Given the description of an element on the screen output the (x, y) to click on. 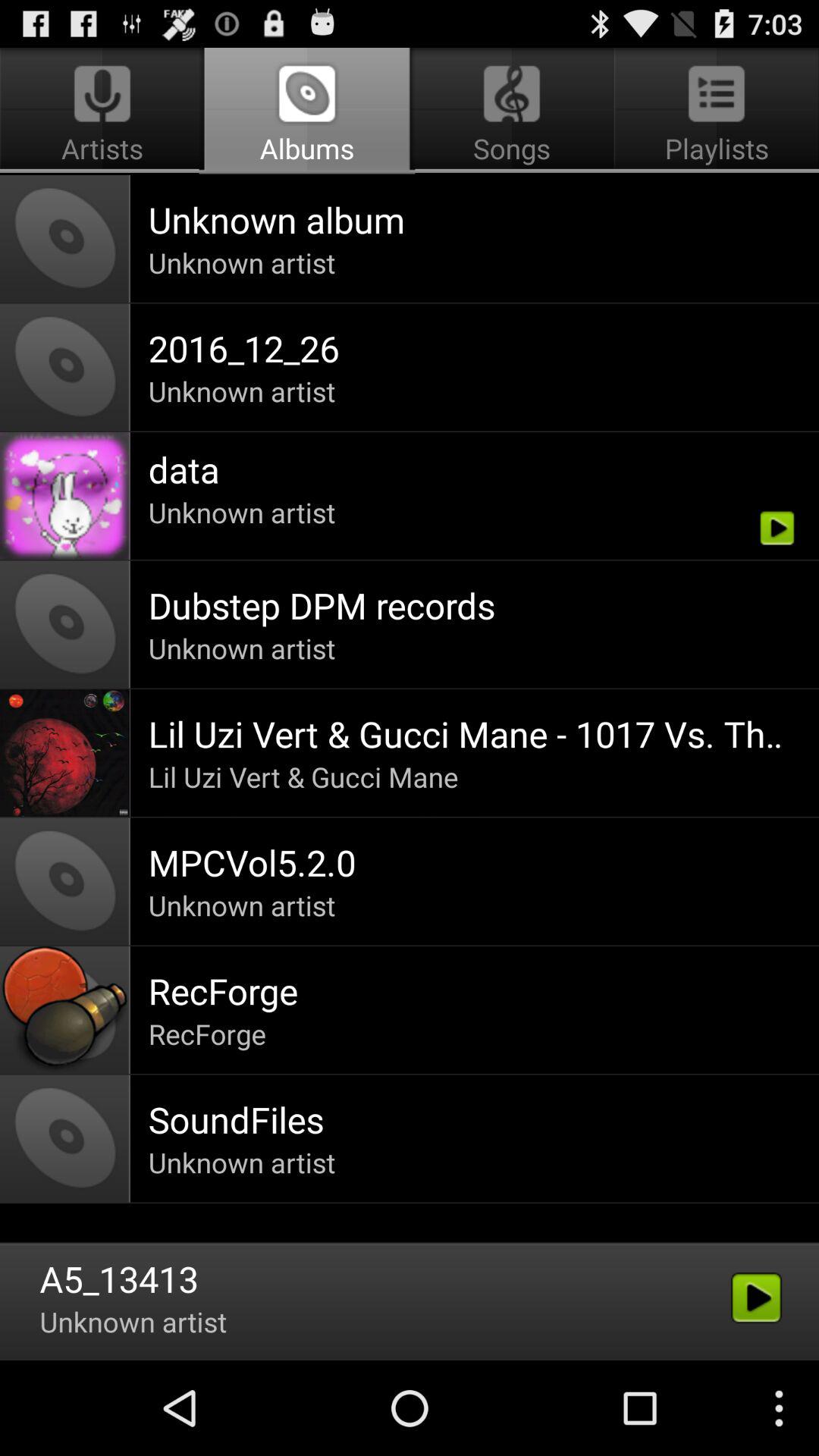
tap albums (307, 111)
